Given the description of an element on the screen output the (x, y) to click on. 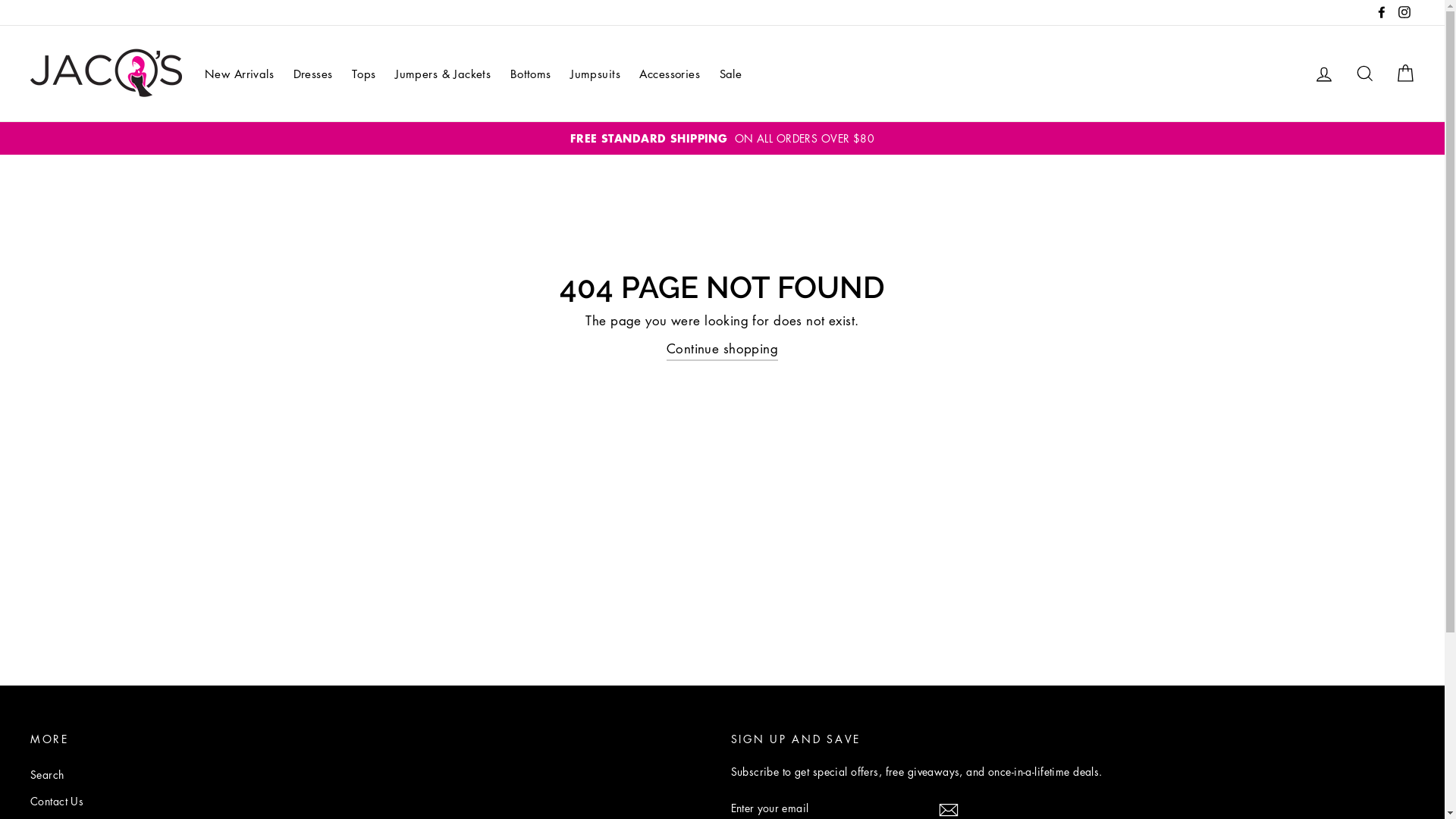
Sale Element type: text (730, 73)
New Arrivals Element type: text (239, 73)
Accessories Element type: text (669, 73)
Skip to content Element type: text (0, 0)
Jumpers & Jackets Element type: text (442, 73)
Search Element type: text (47, 774)
Log in Element type: text (1323, 73)
Dresses Element type: text (312, 73)
Search Element type: text (1364, 73)
Instagram Element type: text (1404, 12)
Facebook Element type: text (1381, 12)
Tops Element type: text (363, 73)
Contact Us Element type: text (56, 800)
Jumpsuits Element type: text (594, 73)
Bottoms Element type: text (530, 73)
Cart Element type: text (1404, 73)
Continue shopping Element type: text (722, 349)
